Given the description of an element on the screen output the (x, y) to click on. 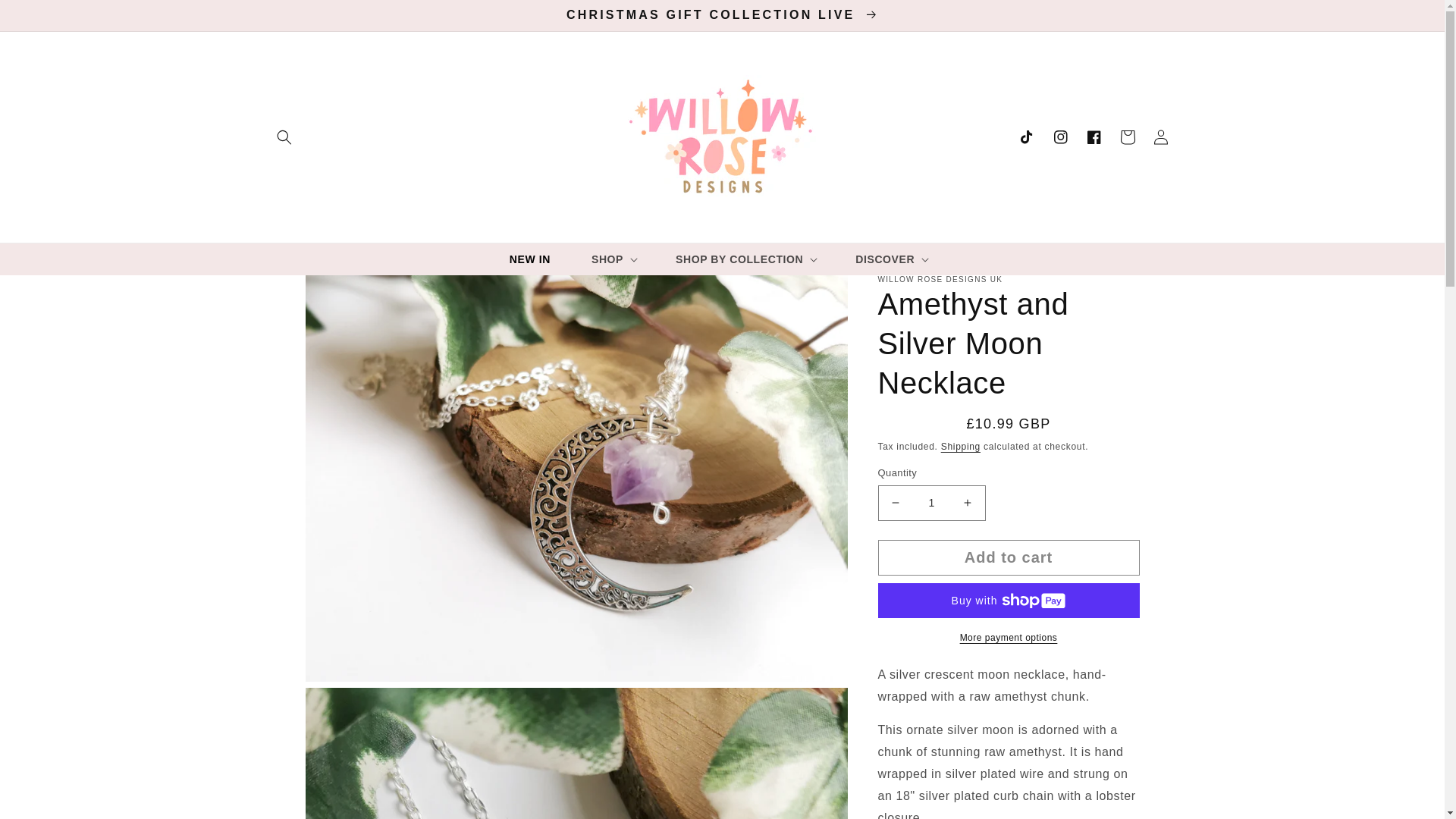
1 (931, 502)
Skip to content (45, 17)
